Given the description of an element on the screen output the (x, y) to click on. 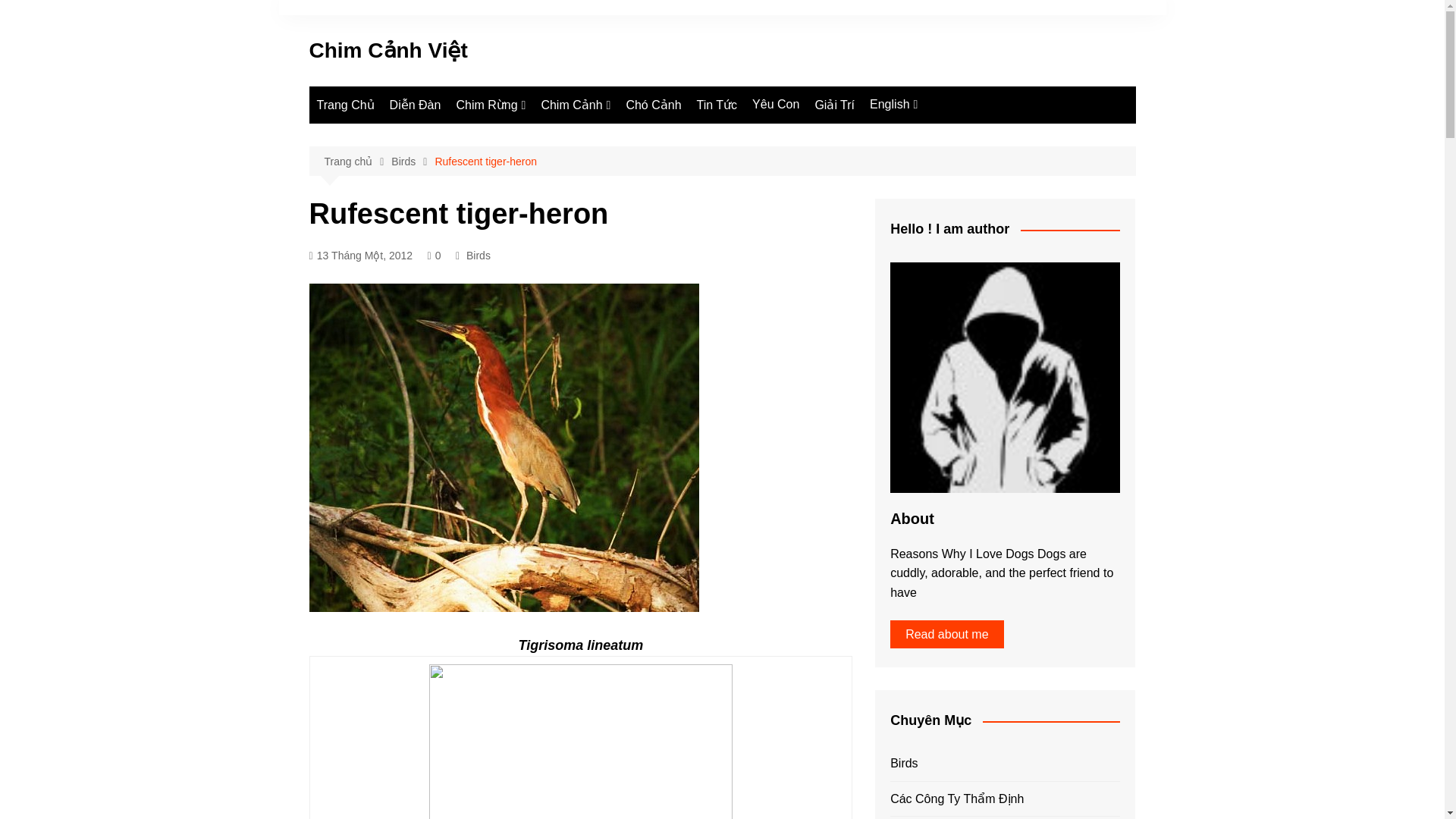
Birds (412, 161)
English (892, 104)
Rufescent tiger-heron (485, 161)
Birds (945, 160)
Finch (616, 135)
Love Dog (945, 135)
